Given the description of an element on the screen output the (x, y) to click on. 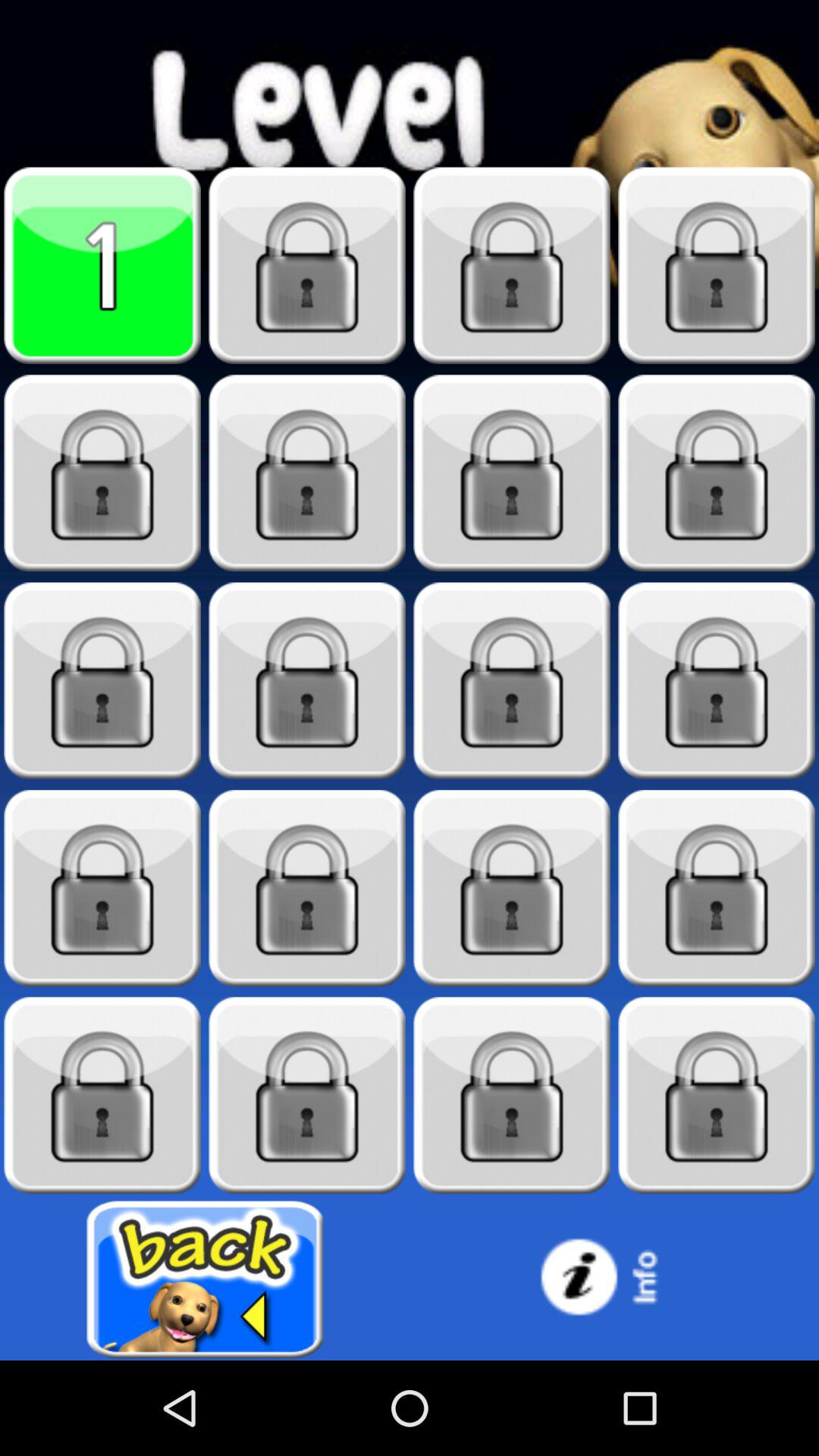
locked level on game (511, 265)
